Given the description of an element on the screen output the (x, y) to click on. 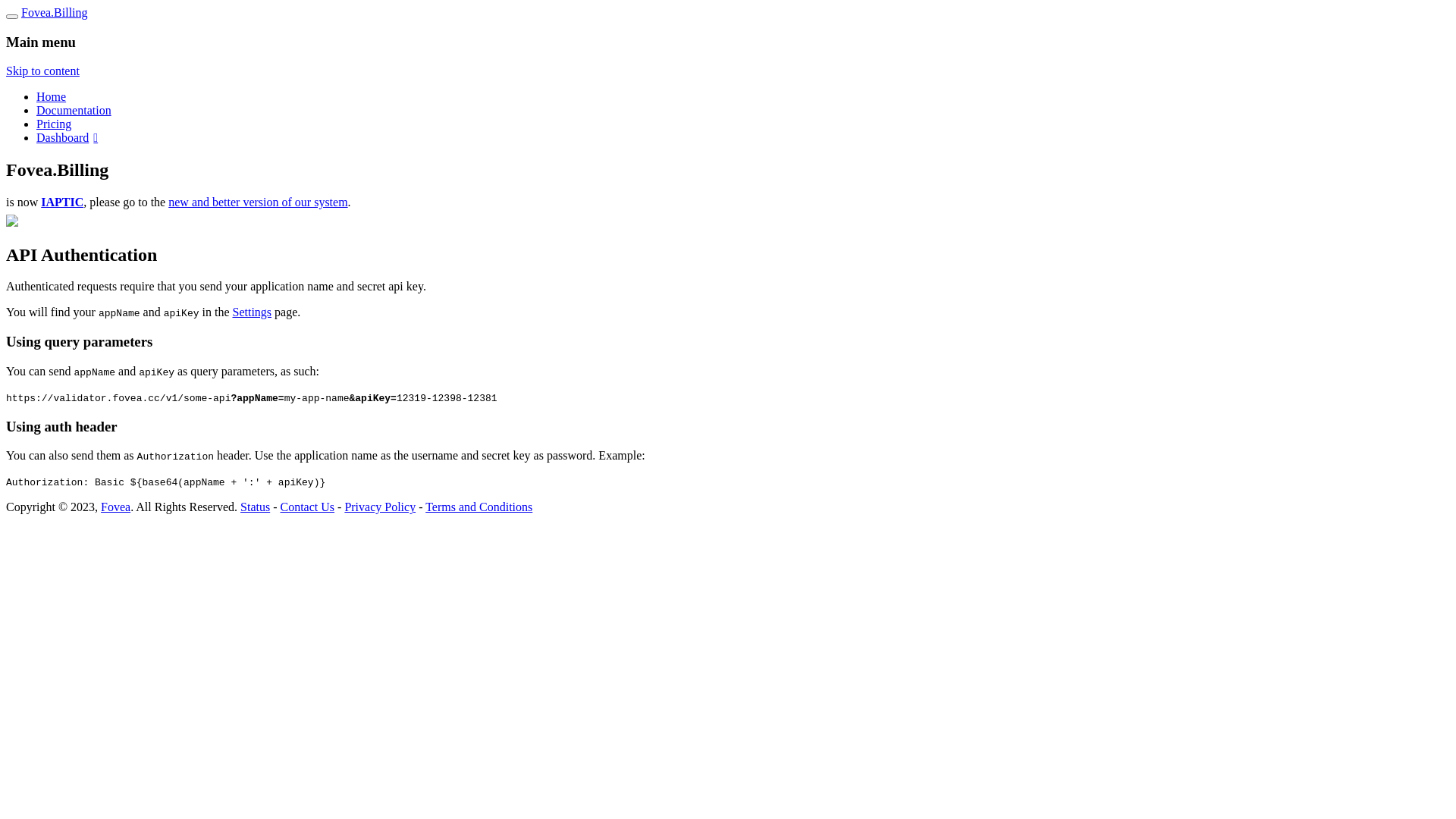
Contact Us Element type: text (307, 506)
Skip to content Element type: text (42, 70)
Settings Element type: text (251, 311)
IAPTIC Element type: text (61, 201)
Dashboard Element type: text (66, 137)
new and better version of our system Element type: text (257, 201)
Status Element type: text (254, 506)
Terms and Conditions Element type: text (478, 506)
Fovea Element type: text (115, 506)
Documentation Element type: text (73, 109)
Privacy Policy Element type: text (379, 506)
Home Element type: text (50, 96)
Pricing Element type: text (53, 123)
Fovea.Billing Element type: text (54, 12)
